Given the description of an element on the screen output the (x, y) to click on. 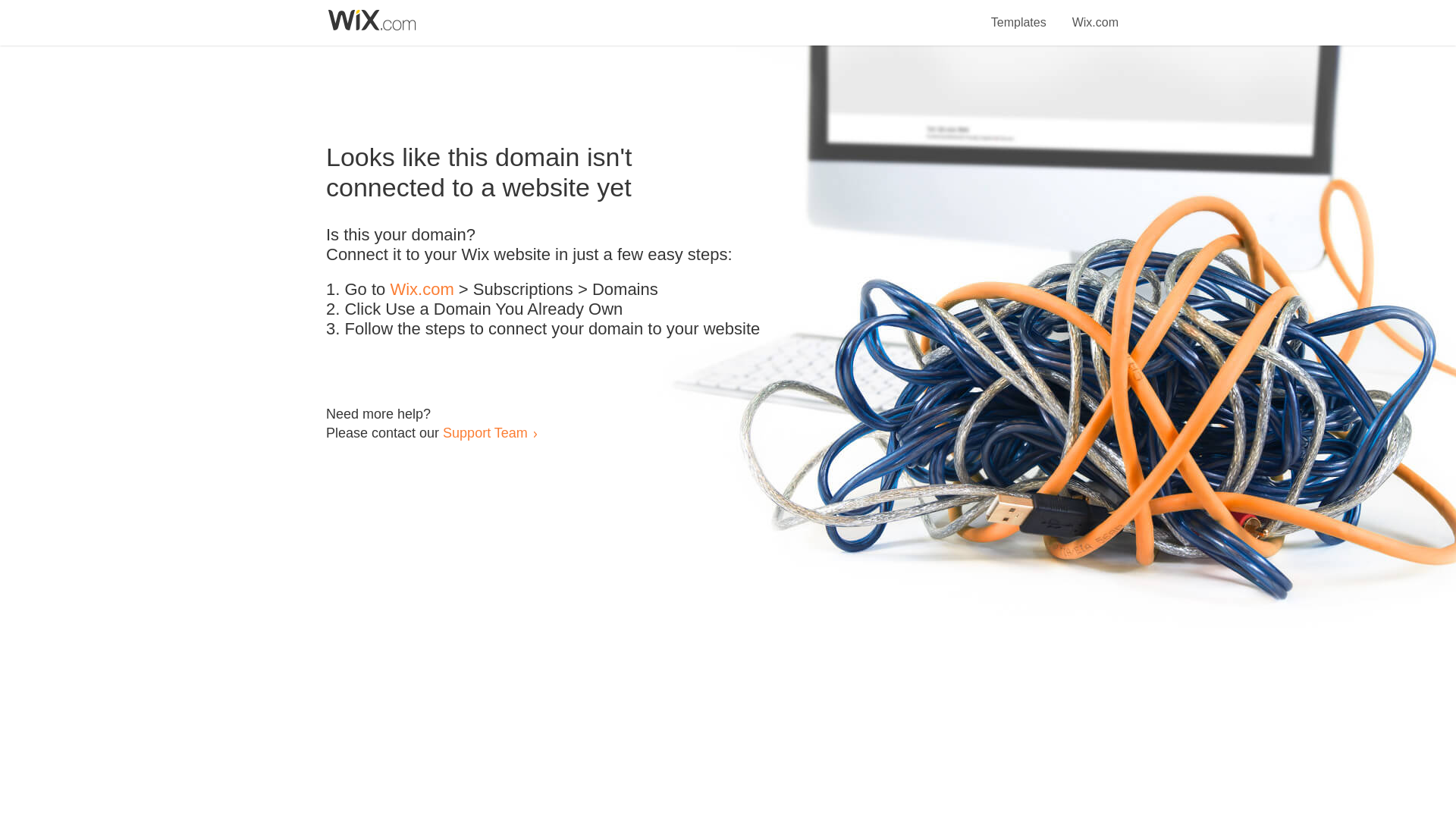
Support Team (484, 432)
Wix.com (1095, 14)
Templates (1018, 14)
Wix.com (421, 289)
